Given the description of an element on the screen output the (x, y) to click on. 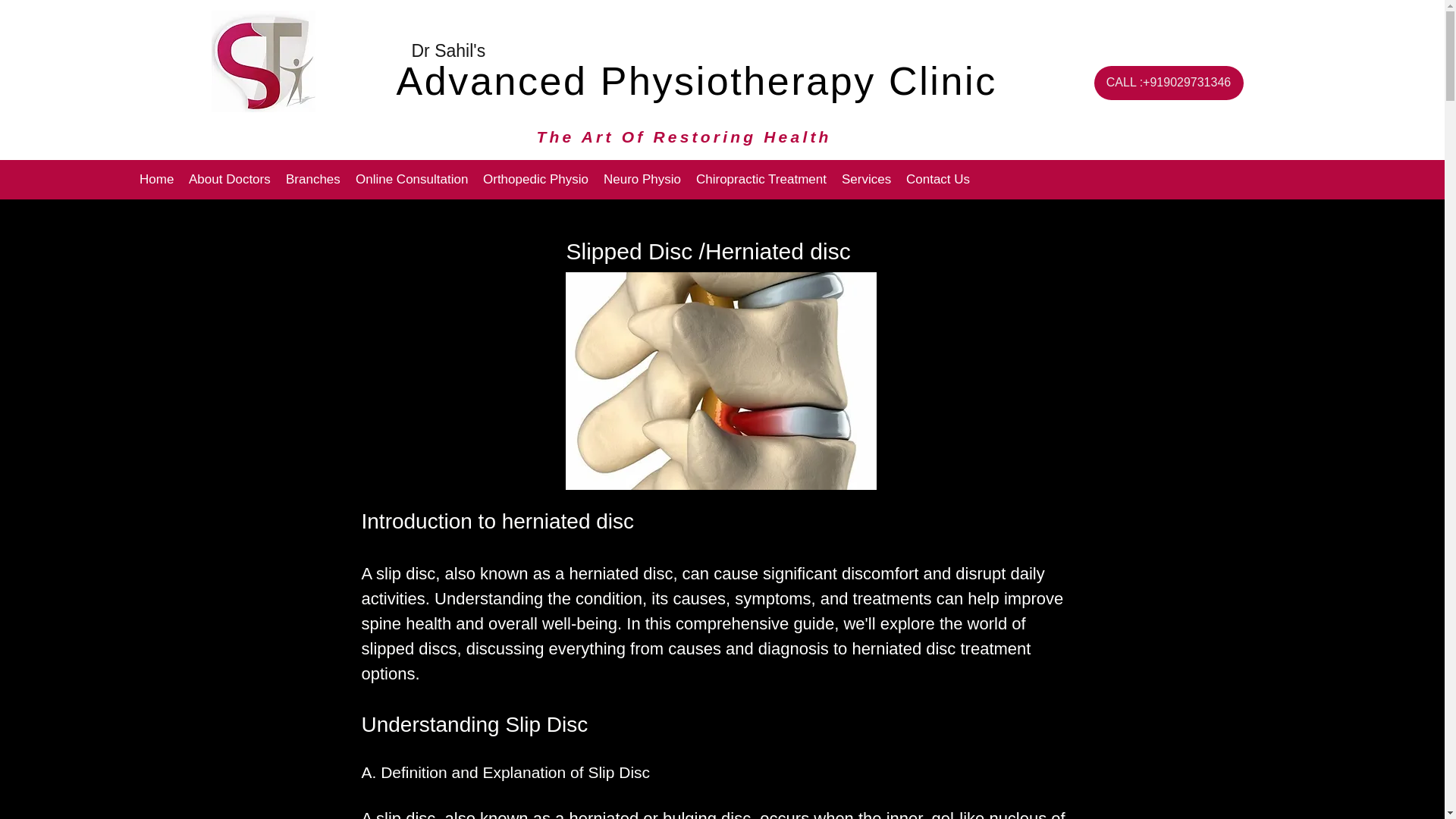
Advanced Physiotherapy logo (262, 61)
Home (156, 179)
Online Consultation (411, 179)
Branches (312, 179)
Services (866, 179)
Chiropractic Treatment (761, 179)
